Given the description of an element on the screen output the (x, y) to click on. 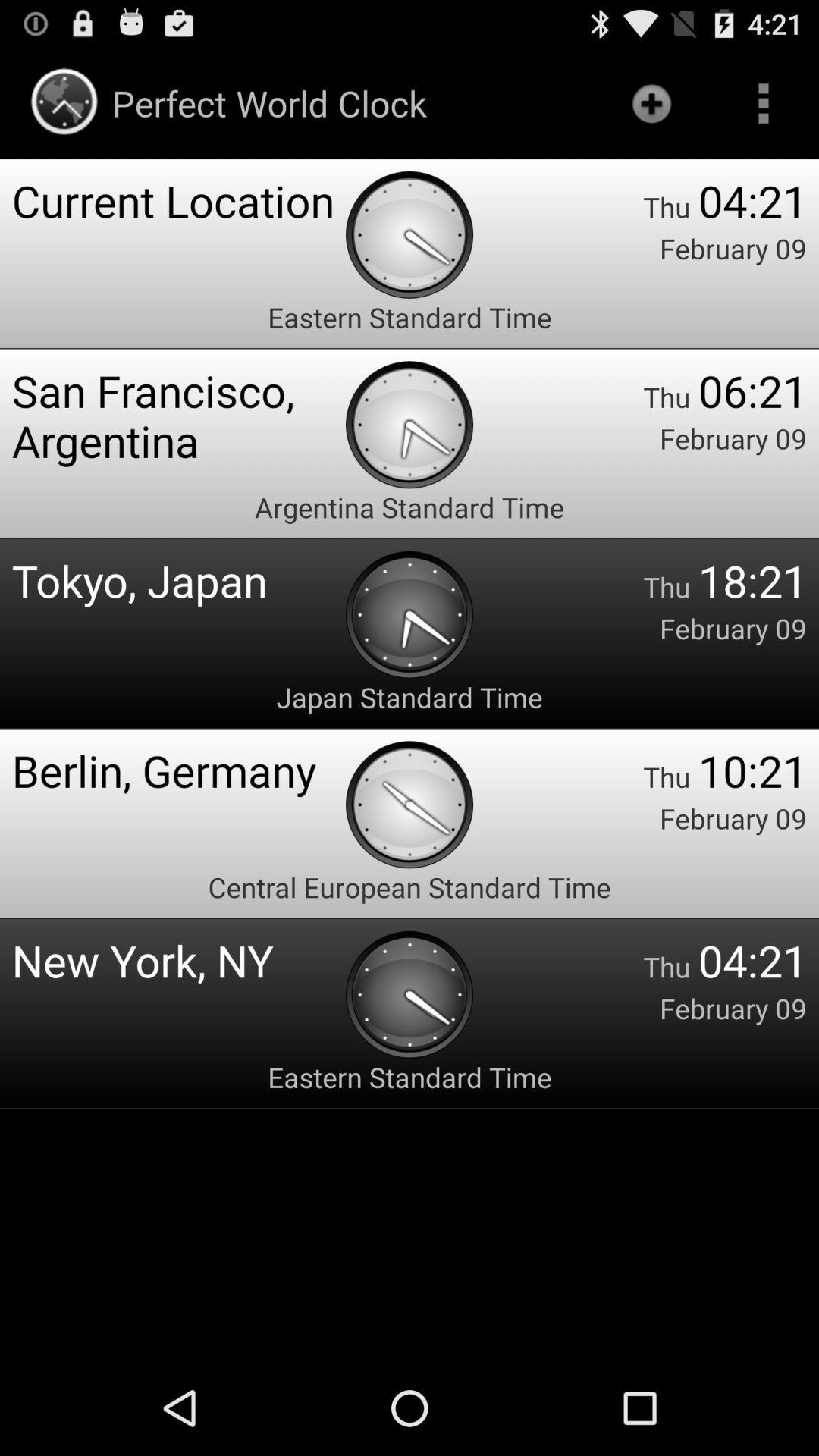
press app above the 04:21 icon (763, 103)
